Given the description of an element on the screen output the (x, y) to click on. 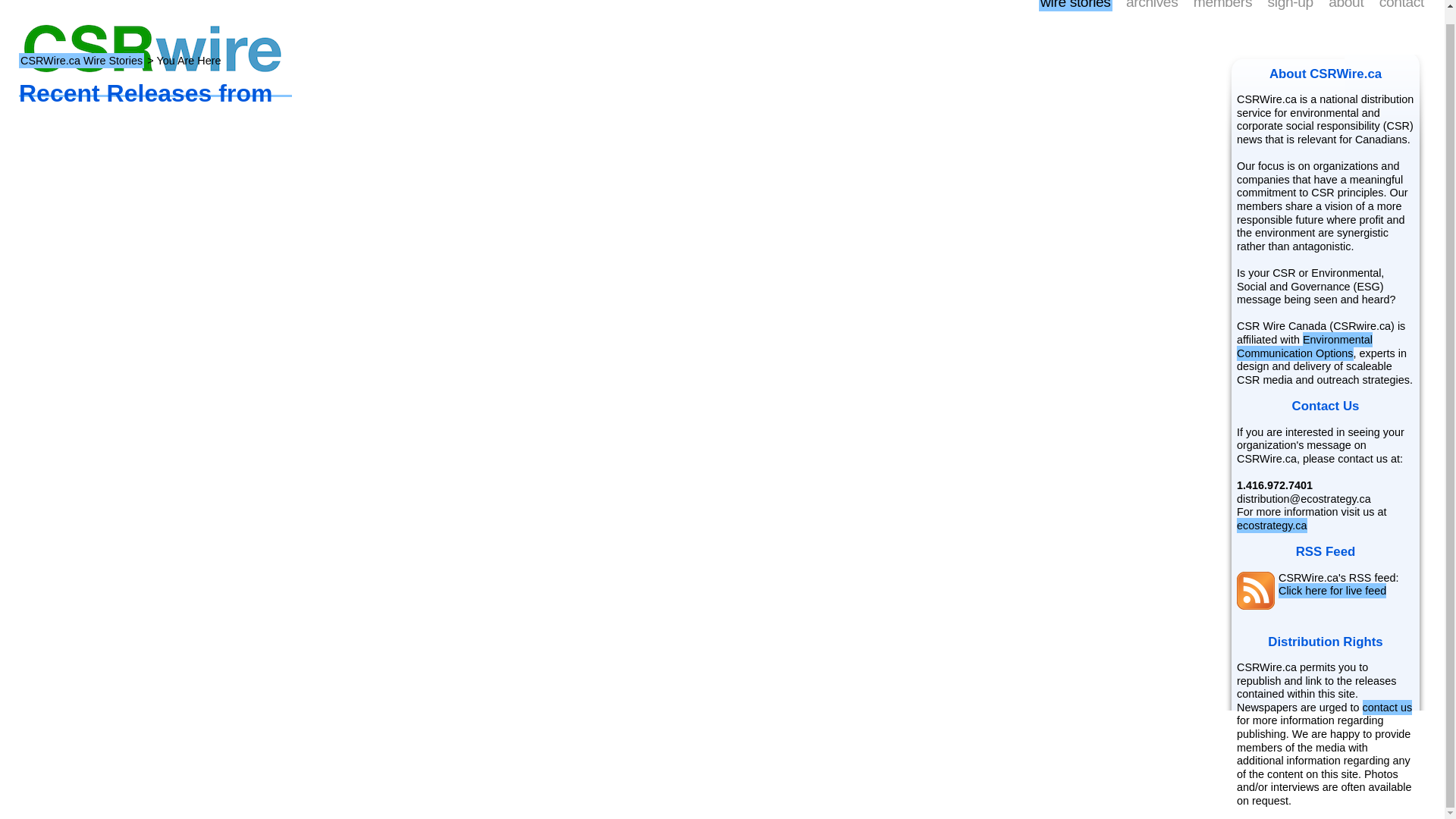
CSRWire.ca Wire Stories (81, 60)
wire stories (1075, 5)
contact us (1387, 707)
about (1345, 5)
sign-up (1290, 5)
archives (1151, 5)
members (1222, 5)
ecostrategy.ca (1271, 525)
contact (1401, 5)
Click here for live feed (1332, 590)
Environmental Communication Options (1304, 346)
